Given the description of an element on the screen output the (x, y) to click on. 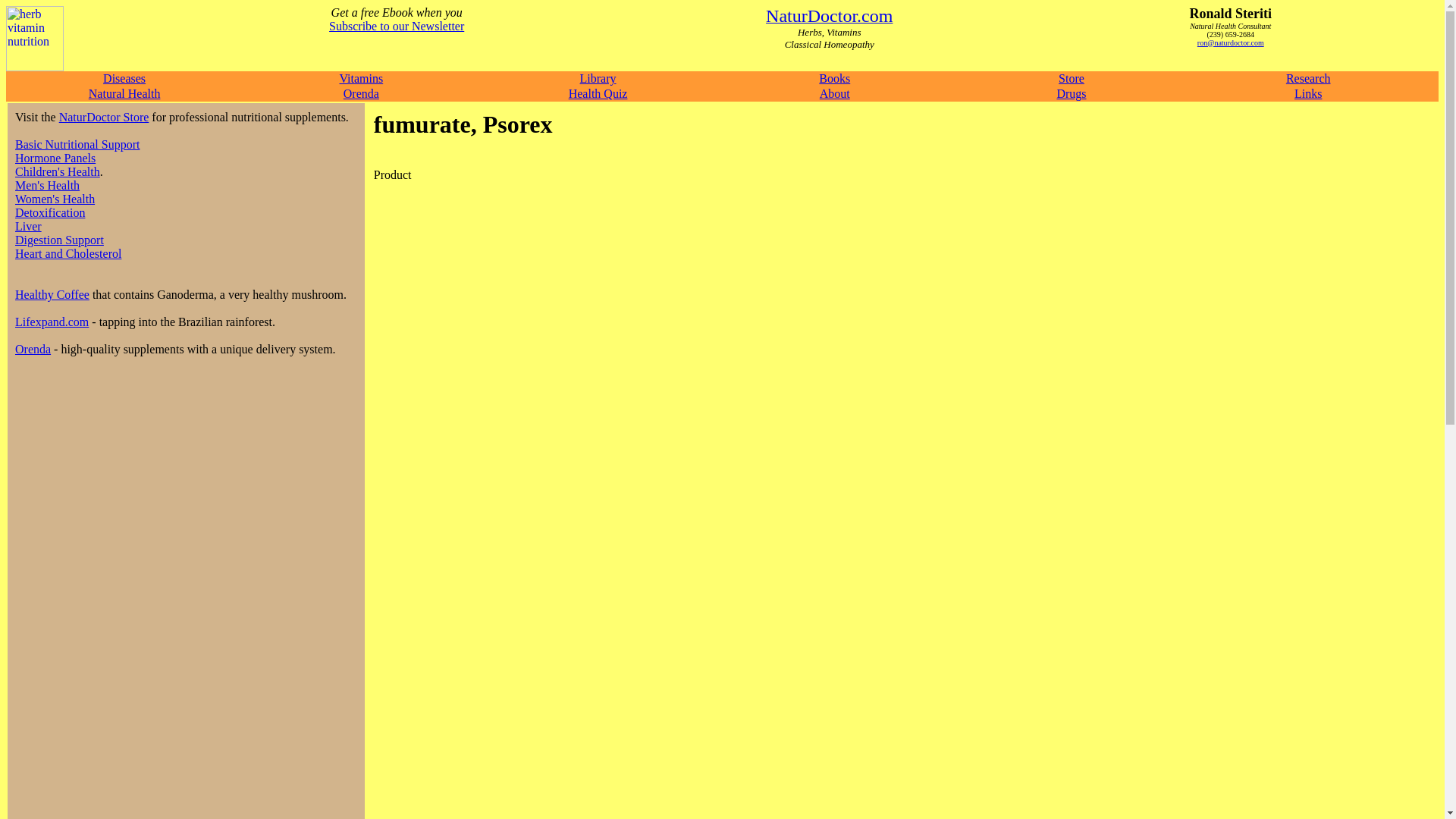
Vitamins (360, 78)
Detoxification (49, 212)
Women's Health (54, 198)
Books (834, 78)
Men's Health (47, 185)
Liver (28, 226)
Hormone Panels (55, 157)
Basic Nutritional Support (76, 144)
Orenda (360, 92)
Links (1308, 92)
Research (1307, 78)
Heart and Cholesterol (67, 253)
NaturDoctor.com (828, 17)
Lifexpand.com (51, 321)
Natural Health (124, 92)
